Given the description of an element on the screen output the (x, y) to click on. 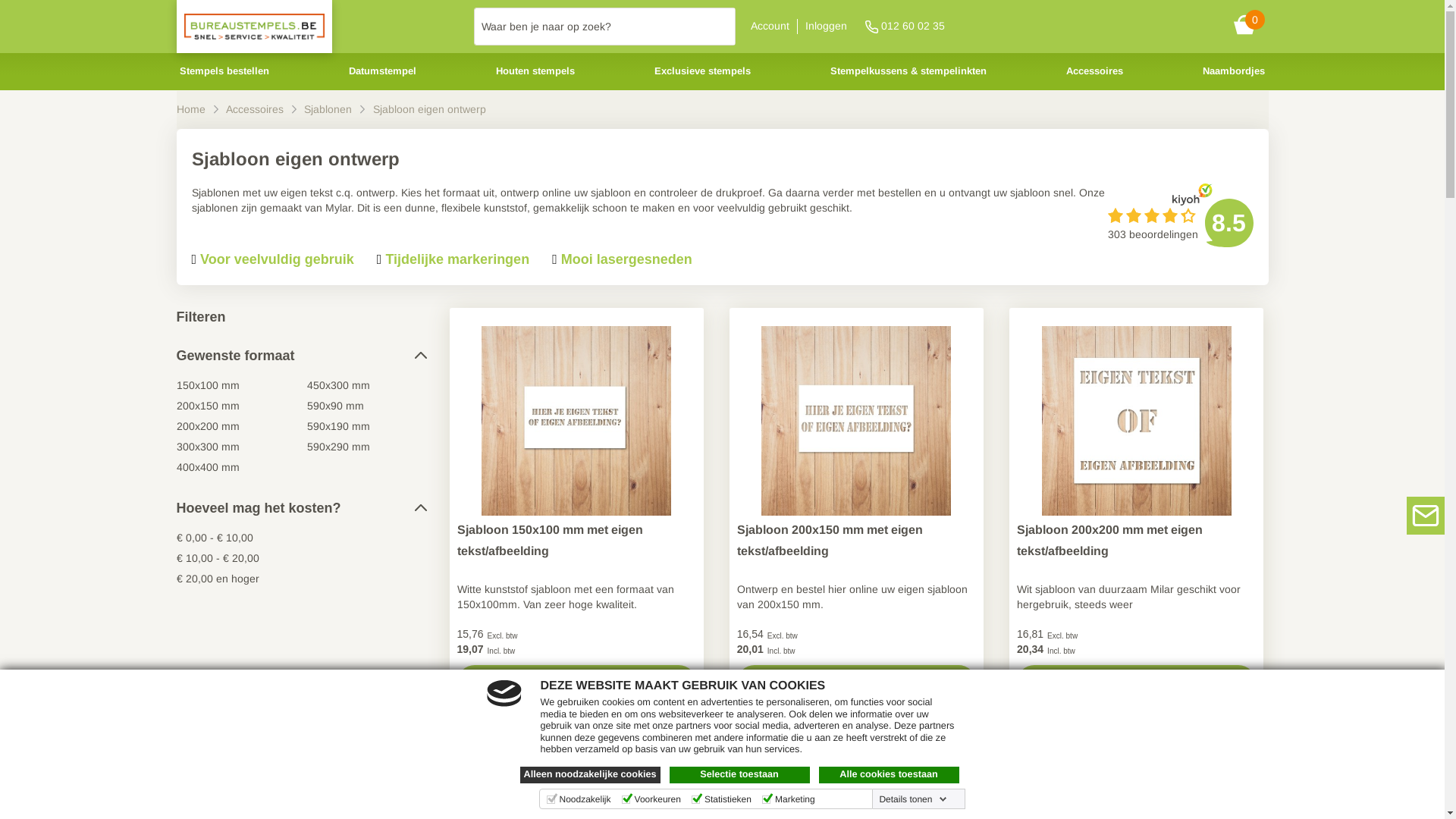
Selectie toestaan Element type: text (738, 774)
Inloggen Element type: text (826, 25)
Home Element type: text (191, 109)
Sjabloon 150x100 mm met eigen tekst/afbeelding Element type: text (575, 540)
ONTWERP NU Element type: text (856, 682)
Sjabloon 200x200 mm met eigen tekst/afbeelding Element type: text (1135, 540)
Details tonen Element type: text (912, 799)
Opens a widget where you can find more information Element type: hover (1376, 792)
200x150 mm Element type: text (206, 405)
Sjabloon eigen ontwerp Element type: text (429, 109)
ONTWERP NU Element type: text (1135, 682)
ONTWERP NU Element type: text (575, 682)
Alle cookies toestaan Element type: text (889, 774)
Account Element type: text (769, 25)
Stempelkussens & stempelinkten Element type: text (908, 71)
Sjabloon 200x150 mm met eigen tekst/afbeelding Element type: text (856, 540)
300x300 mm Element type: text (206, 446)
303 beoordelingen
8.5 Element type: text (1179, 222)
Houten stempels Element type: text (534, 71)
Accessoires Element type: text (1094, 71)
Datumstempel Element type: text (382, 71)
590x190 mm Element type: text (337, 426)
590x290 mm Element type: text (337, 446)
Naambordjes Element type: text (1233, 71)
Neem contact op Element type: text (1425, 515)
400x400 mm Element type: text (206, 467)
012 60 02 35 Element type: text (902, 26)
Accessoires Element type: text (255, 109)
Winkelwagen
0 Element type: text (1249, 26)
150x100 mm Element type: text (206, 385)
Alleen noodzakelijke cookies Element type: text (590, 774)
590x90 mm Element type: text (334, 405)
Exclusieve stempels Element type: text (702, 71)
450x300 mm Element type: text (337, 385)
Sjablonen Element type: text (329, 109)
200x200 mm Element type: text (206, 426)
Stempels bestellen Element type: text (223, 71)
